Given the description of an element on the screen output the (x, y) to click on. 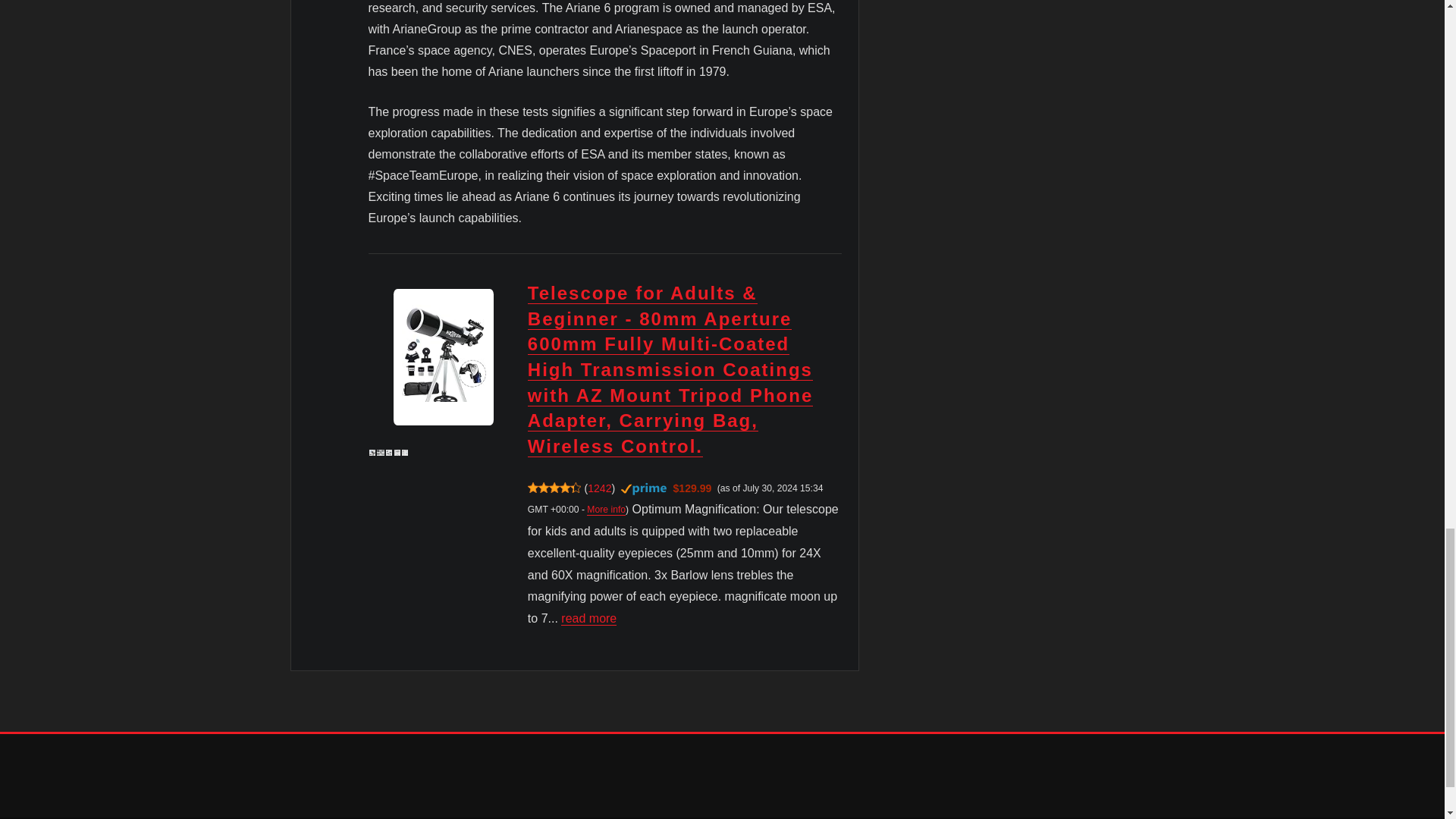
1242 (599, 488)
More info (606, 509)
read more (587, 617)
